Given the description of an element on the screen output the (x, y) to click on. 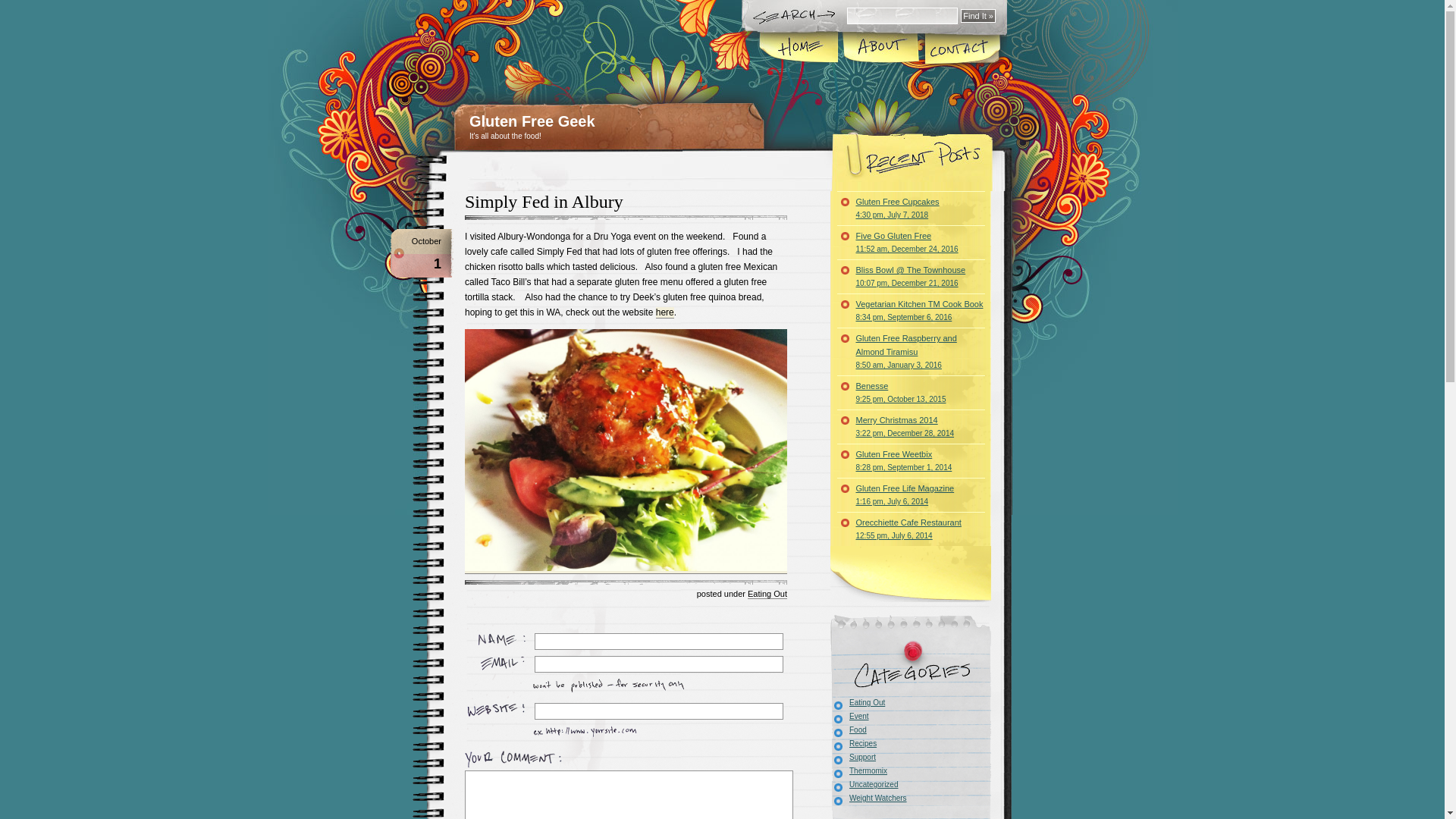
Contact Me Element type: text (961, 48)
Orecchiette Cafe Restaurant
12:55 pm, July 6, 2014 Element type: text (911, 528)
Eating Out Element type: text (857, 702)
Home Element type: text (799, 48)
Support Element type: text (852, 756)
Five Go Gluten Free
11:52 am, December 24, 2016 Element type: text (911, 242)
Gluten Free Cupcakes
4:30 pm, July 7, 2018 Element type: text (911, 208)
About Element type: text (880, 48)
Weight Watchers Element type: text (868, 797)
Simply Fed in Albury Element type: text (543, 201)
Eating Out Element type: text (767, 594)
Food Element type: text (848, 729)
here Element type: text (664, 312)
Gluten Free Weetbix
8:28 pm, September 1, 2014 Element type: text (911, 460)
Gluten Free Life Magazine
1:16 pm, July 6, 2014 Element type: text (911, 494)
Vegetarian Kitchen TM Cook Book
8:34 pm, September 6, 2016 Element type: text (911, 310)
Merry Christmas 2014
3:22 pm, December 28, 2014 Element type: text (911, 426)
Thermomix Element type: text (858, 770)
Uncategorized Element type: text (863, 784)
Event Element type: text (849, 716)
Bliss Bowl @ The Townhouse
10:07 pm, December 21, 2016 Element type: text (911, 276)
Recipes Element type: text (853, 743)
Gluten Free Geek Element type: text (532, 120)
Benesse
9:25 pm, October 13, 2015 Element type: text (911, 392)
image Element type: hover (625, 450)
